Given the description of an element on the screen output the (x, y) to click on. 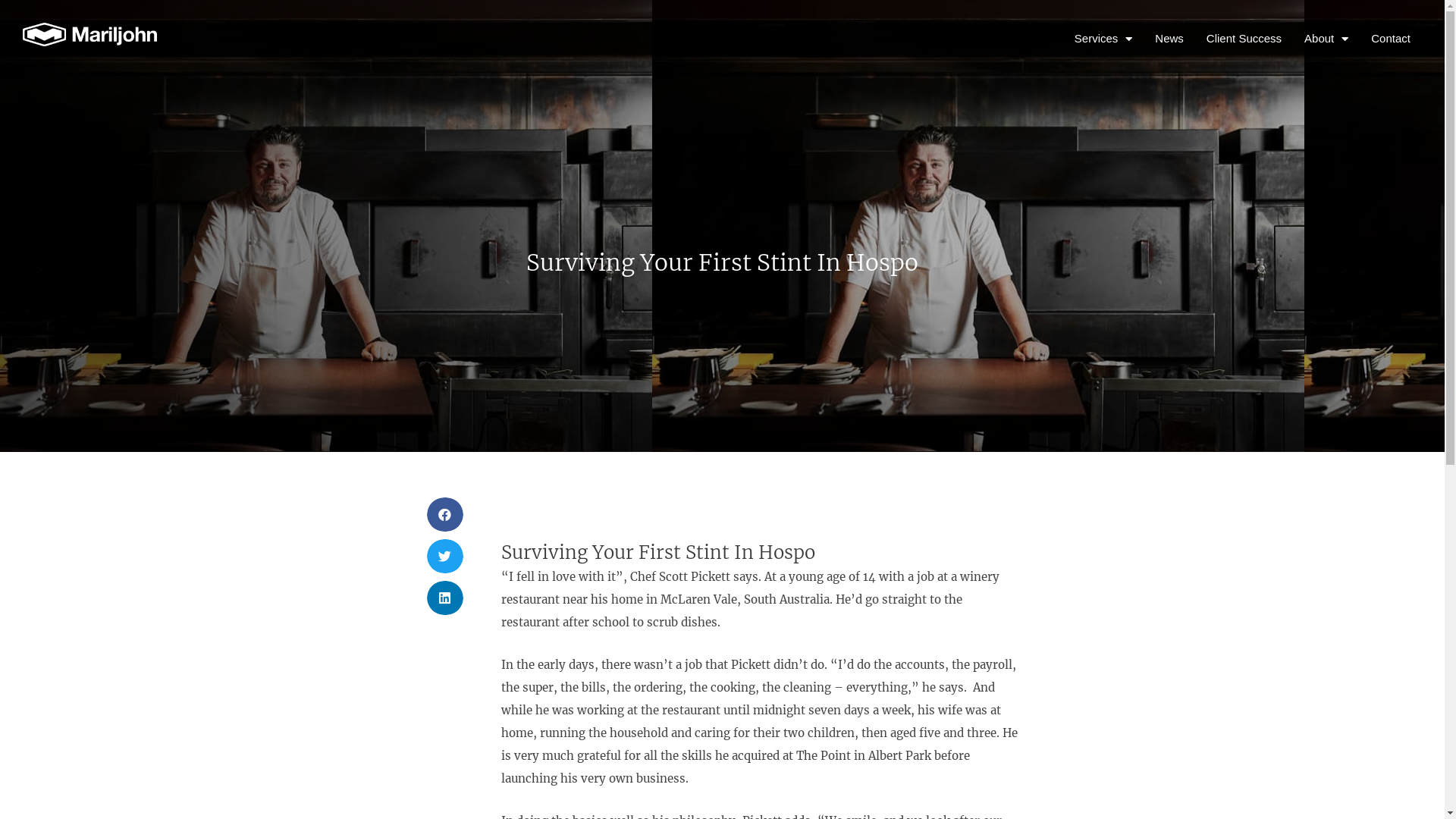
Contact Element type: text (1390, 38)
Services Element type: text (1103, 38)
Client Success Element type: text (1243, 38)
News Element type: text (1169, 38)
About Element type: text (1325, 38)
